Given the description of an element on the screen output the (x, y) to click on. 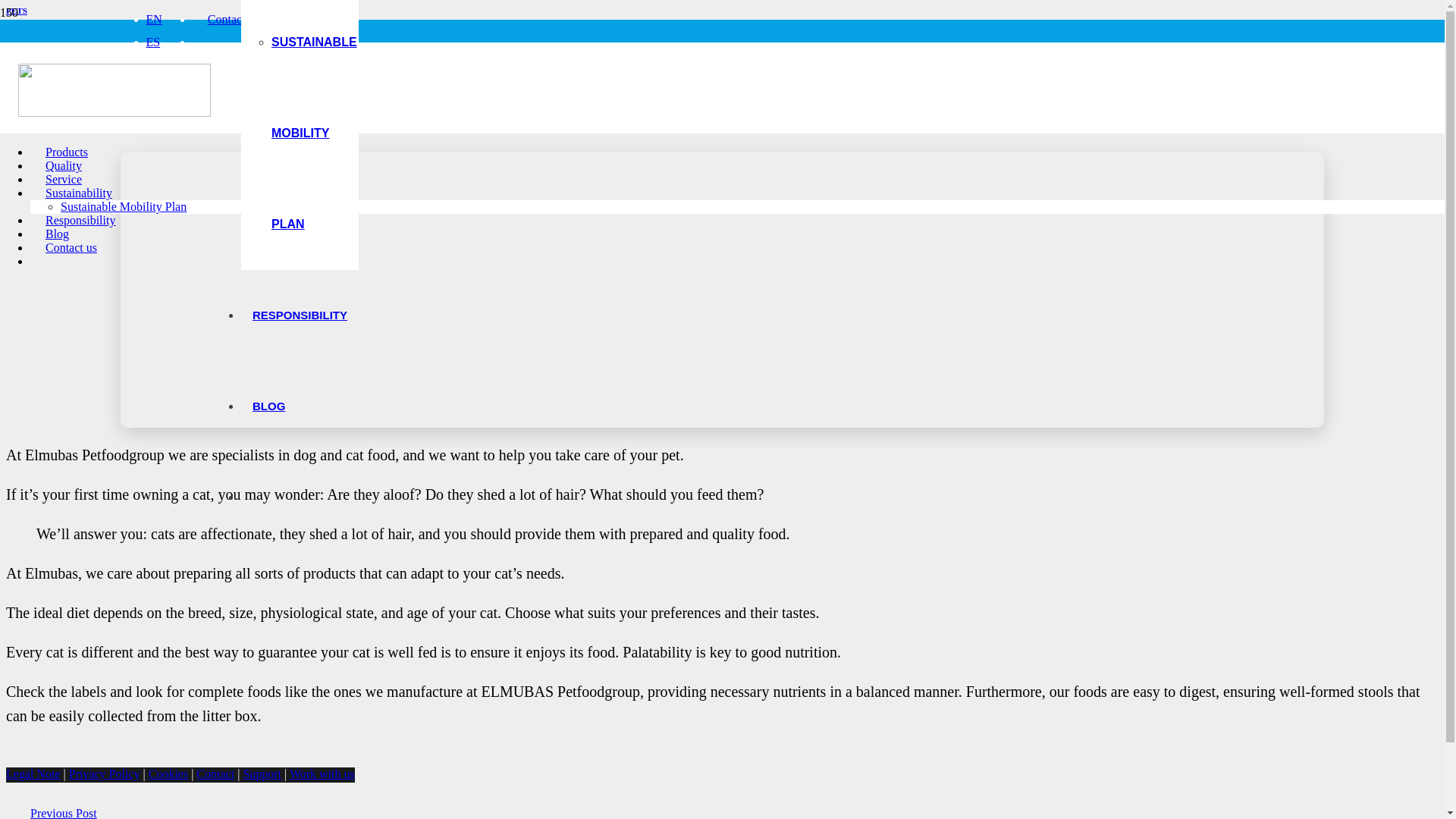
Legal Note (33, 773)
RESPONSIBILITY (299, 314)
EN (153, 19)
BLOG (269, 405)
Quality (63, 164)
Sustainability (79, 192)
Contact us (233, 19)
ES (152, 42)
Products (66, 151)
Responsibility (80, 219)
Privacy Policy (103, 773)
Service (63, 178)
PETS (16, 10)
Blog (57, 233)
